Given the description of an element on the screen output the (x, y) to click on. 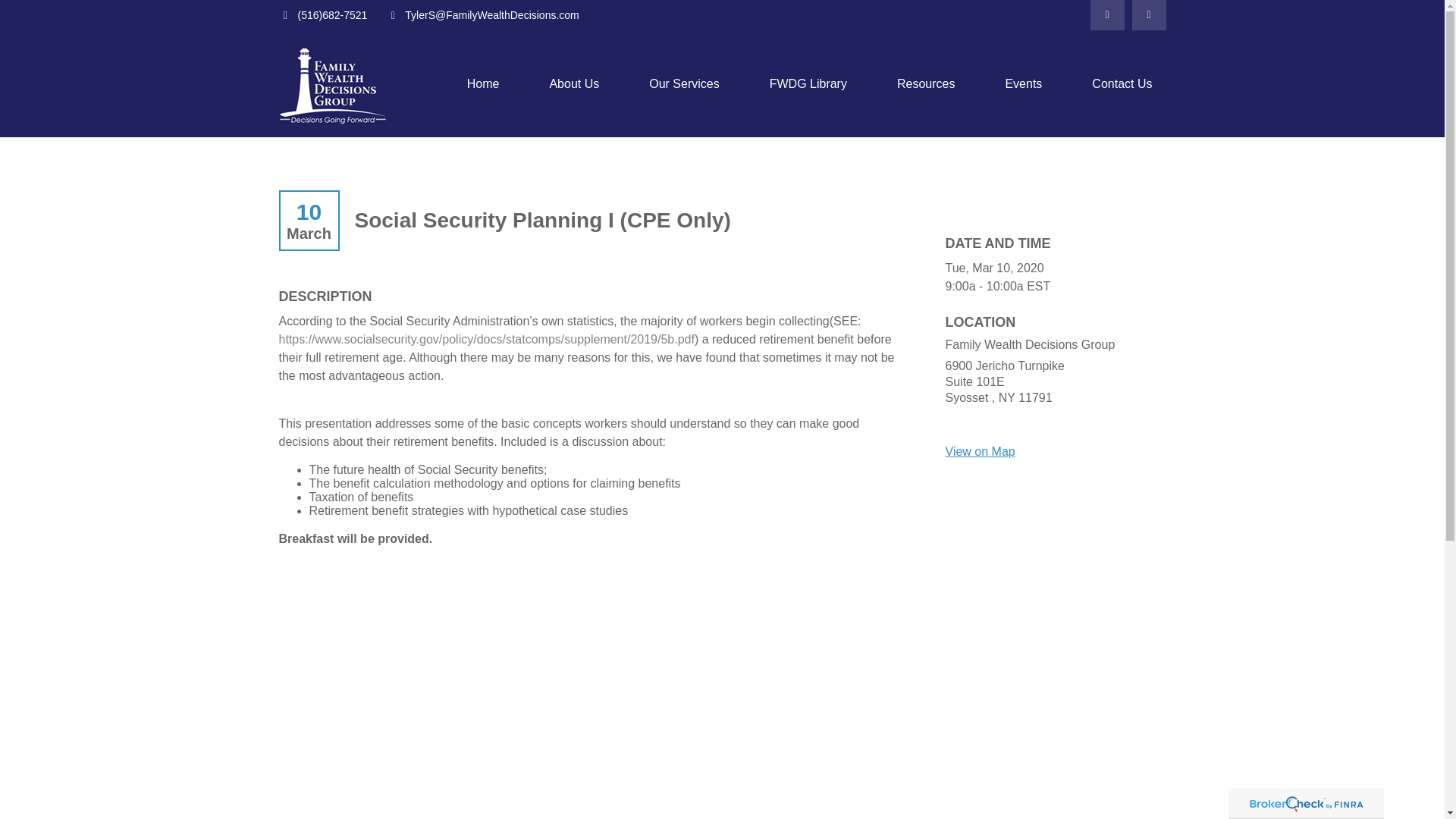
Events (1023, 83)
Our Services (684, 83)
Contact Us (1121, 83)
Home (483, 83)
FWDG Library (807, 83)
Resources (925, 83)
About Us (574, 83)
